Given the description of an element on the screen output the (x, y) to click on. 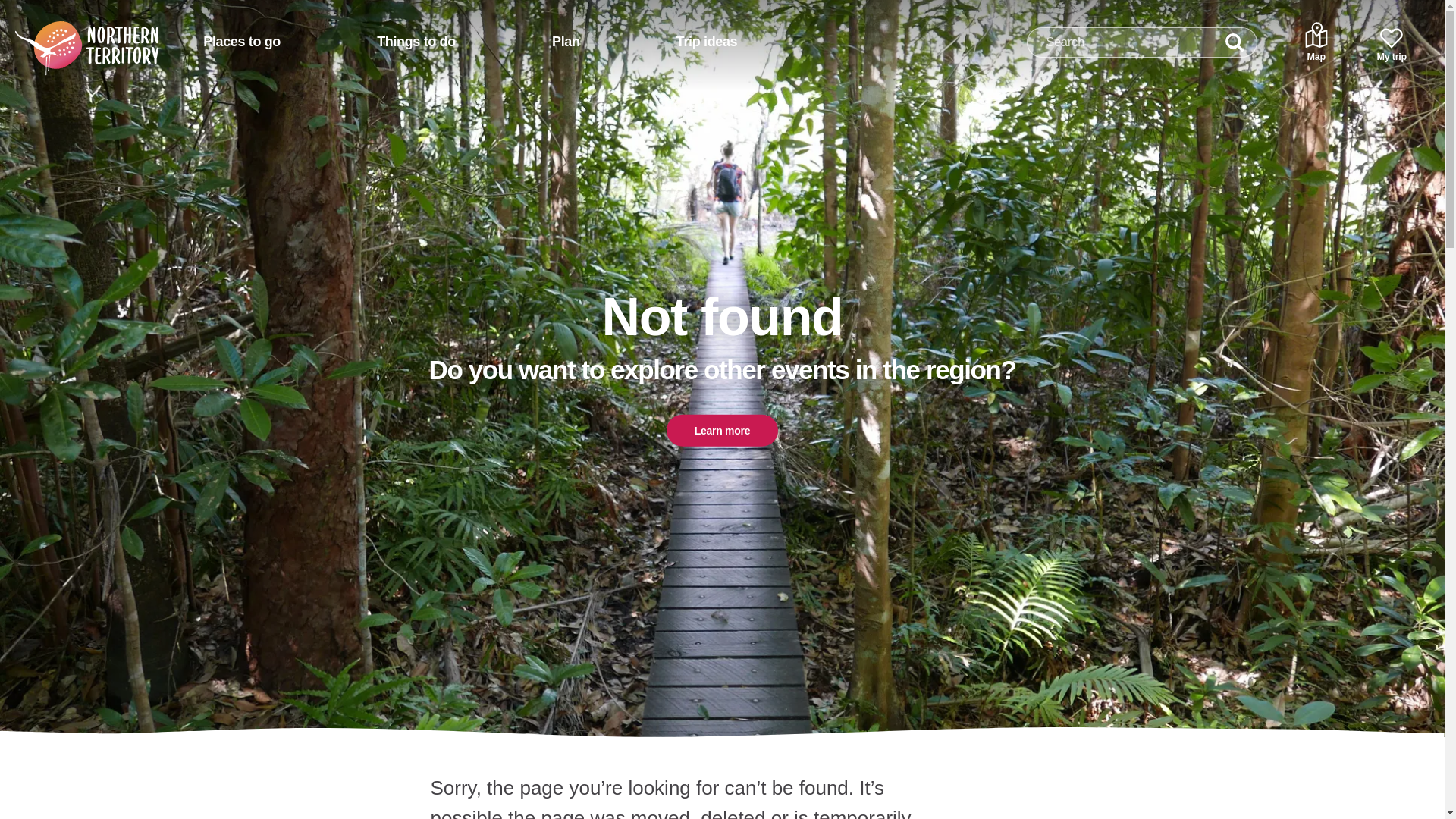
Search (1234, 42)
Home (67, 36)
Things to do (416, 42)
Places to go (241, 42)
